Given the description of an element on the screen output the (x, y) to click on. 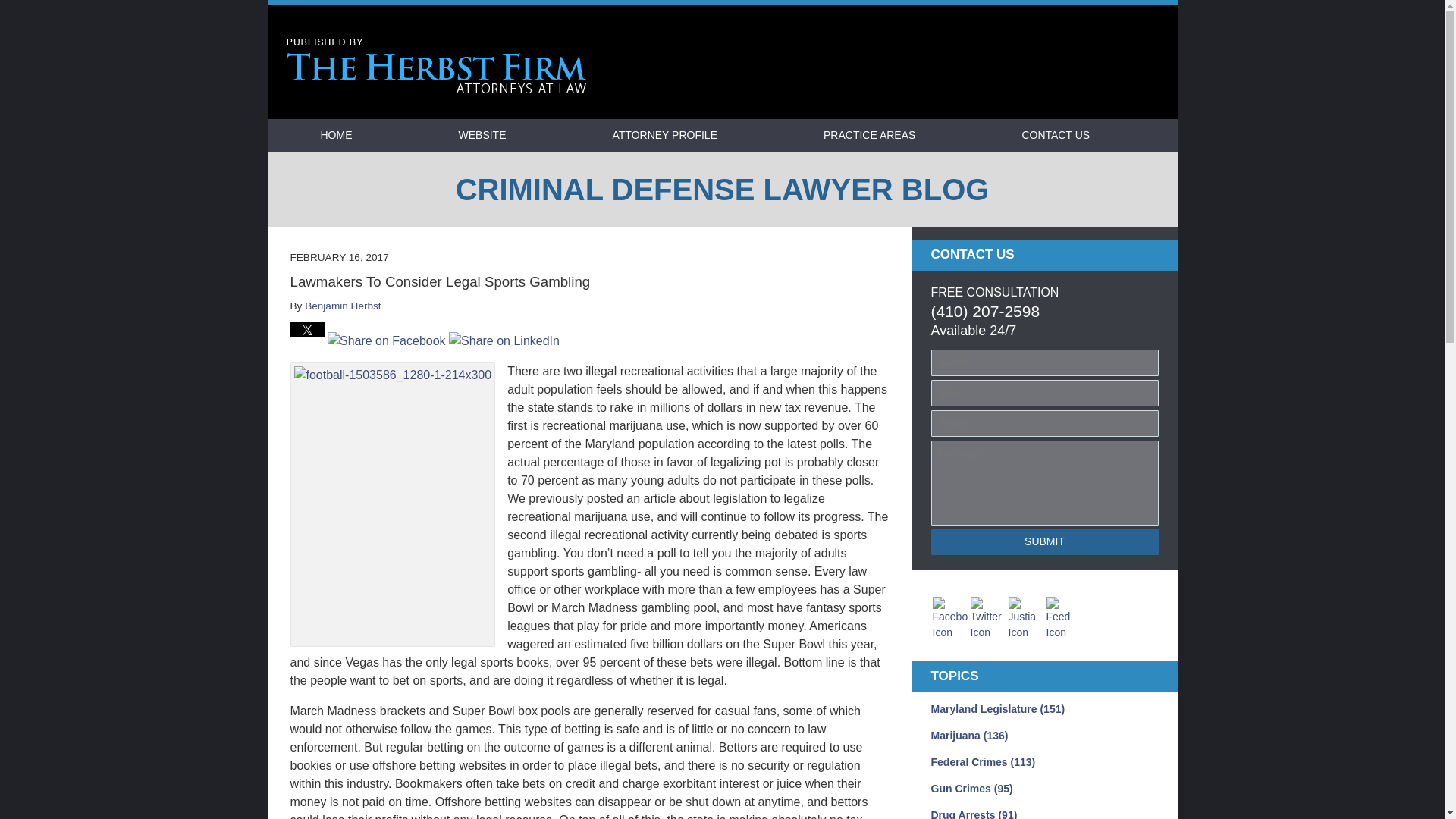
SUBMIT (1044, 542)
WEBSITE (481, 134)
ATTORNEY PROFILE (664, 134)
CONTACT US (1055, 134)
Criminal Defense Lawyer Blog (436, 66)
Please enter a valid phone number. (1044, 423)
PRACTICE AREAS (869, 134)
Benjamin Herbst (342, 306)
CRIMINAL DEFENSE LAWYER BLOG (721, 189)
HOME (335, 134)
